Given the description of an element on the screen output the (x, y) to click on. 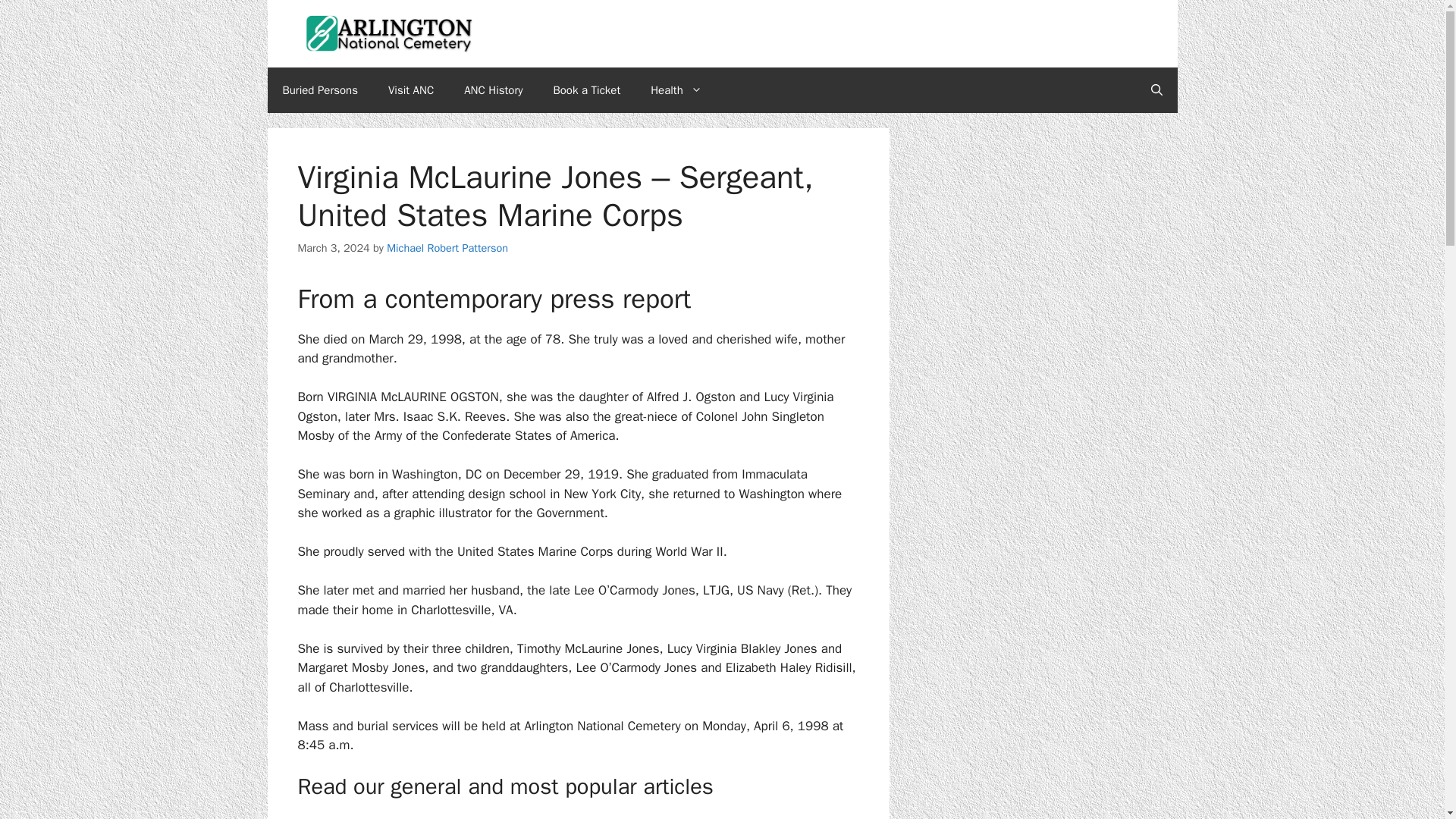
ANC History (492, 90)
Book a Ticket (587, 90)
Buried Persons (319, 90)
Visit ANC (410, 90)
Buried Persons (319, 90)
Health (675, 90)
View all posts by Michael Robert Patterson (447, 247)
